Given the description of an element on the screen output the (x, y) to click on. 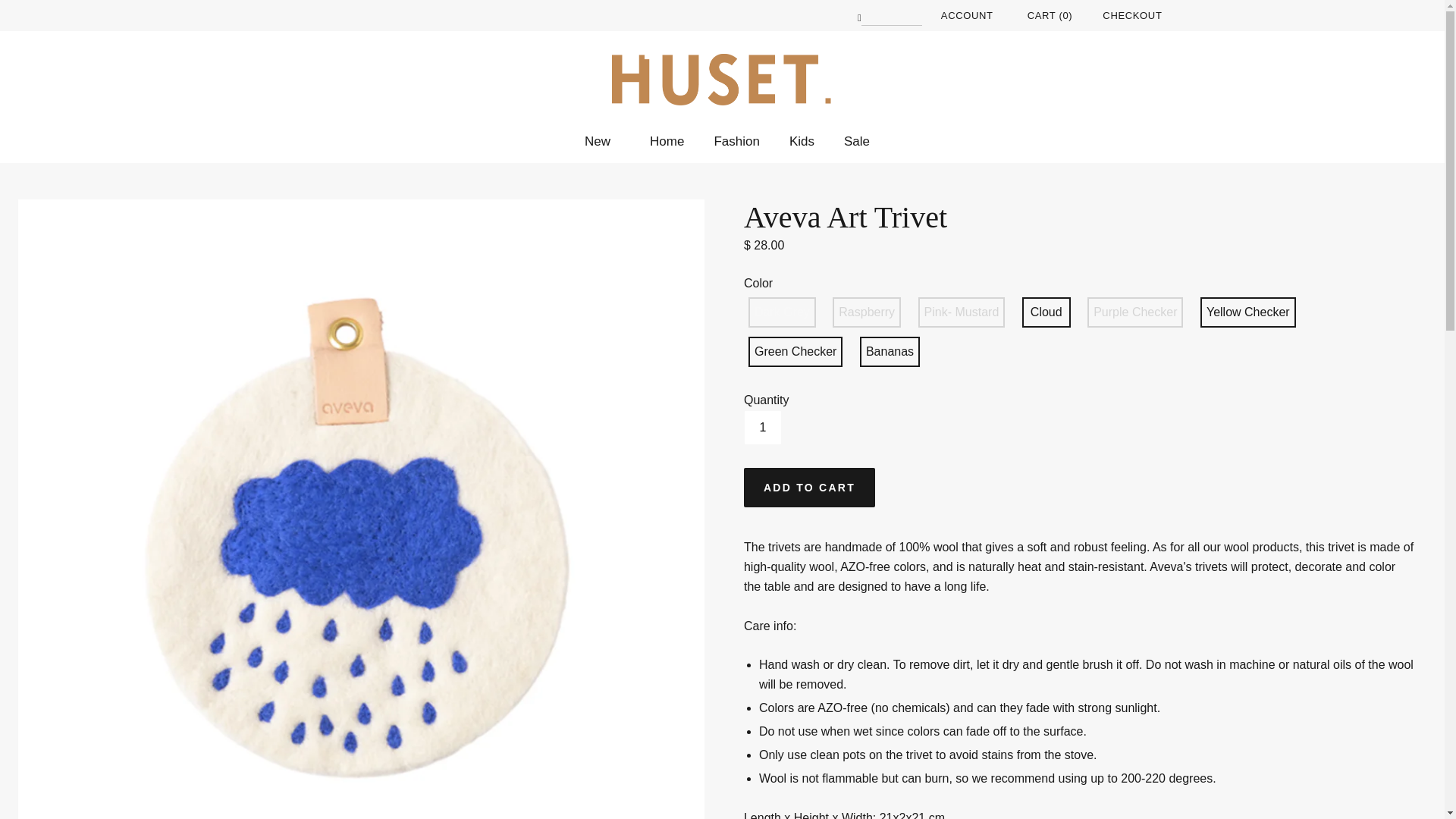
Add to cart (809, 486)
ACCOUNT (966, 15)
CHECKOUT (1131, 15)
1 (762, 427)
New (597, 140)
Home (662, 140)
